Given the description of an element on the screen output the (x, y) to click on. 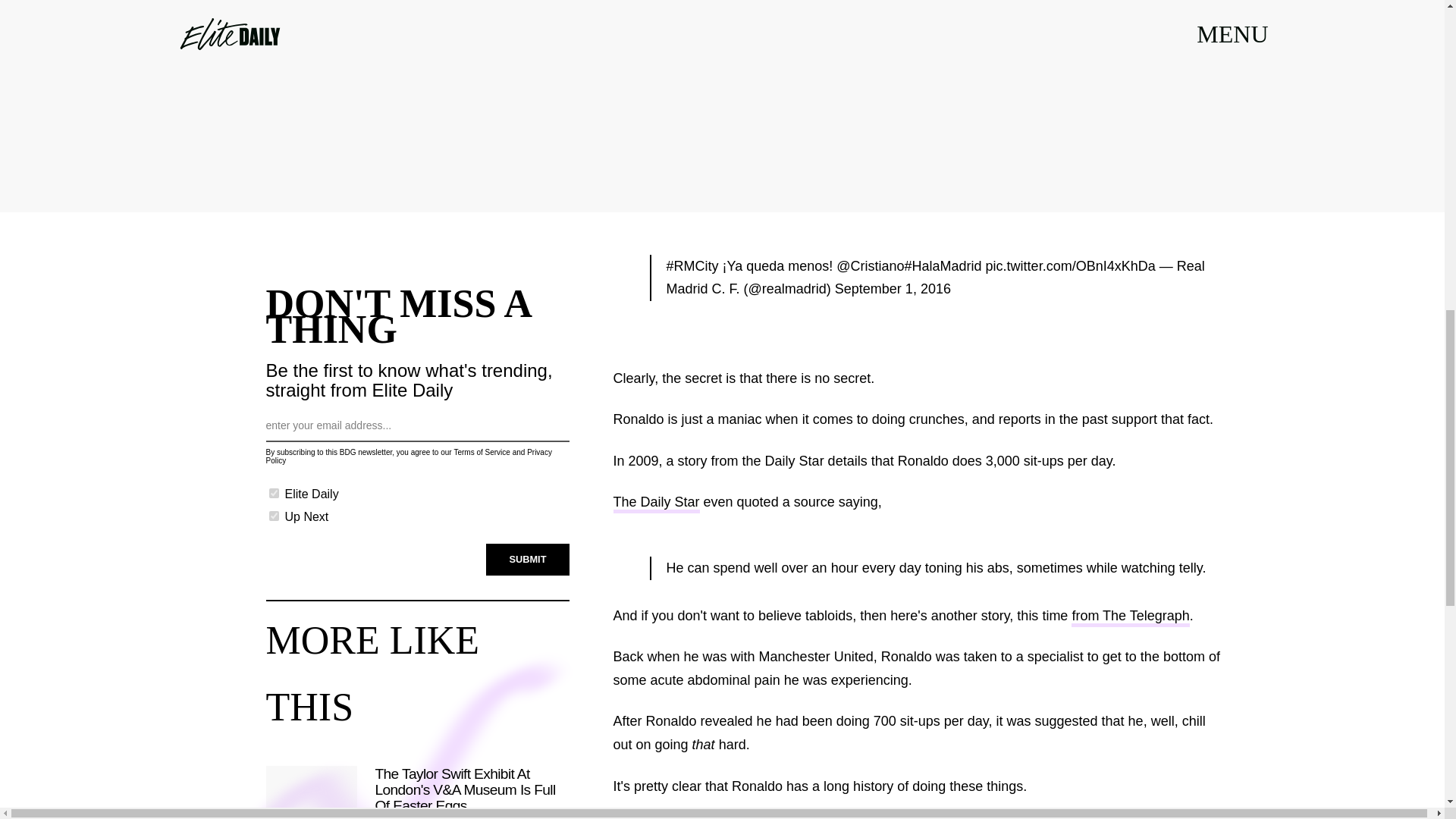
Privacy Policy (407, 456)
from The Telegraph (1130, 617)
Terms of Service (480, 451)
The Daily Star (655, 503)
SUBMIT (527, 558)
